Given the description of an element on the screen output the (x, y) to click on. 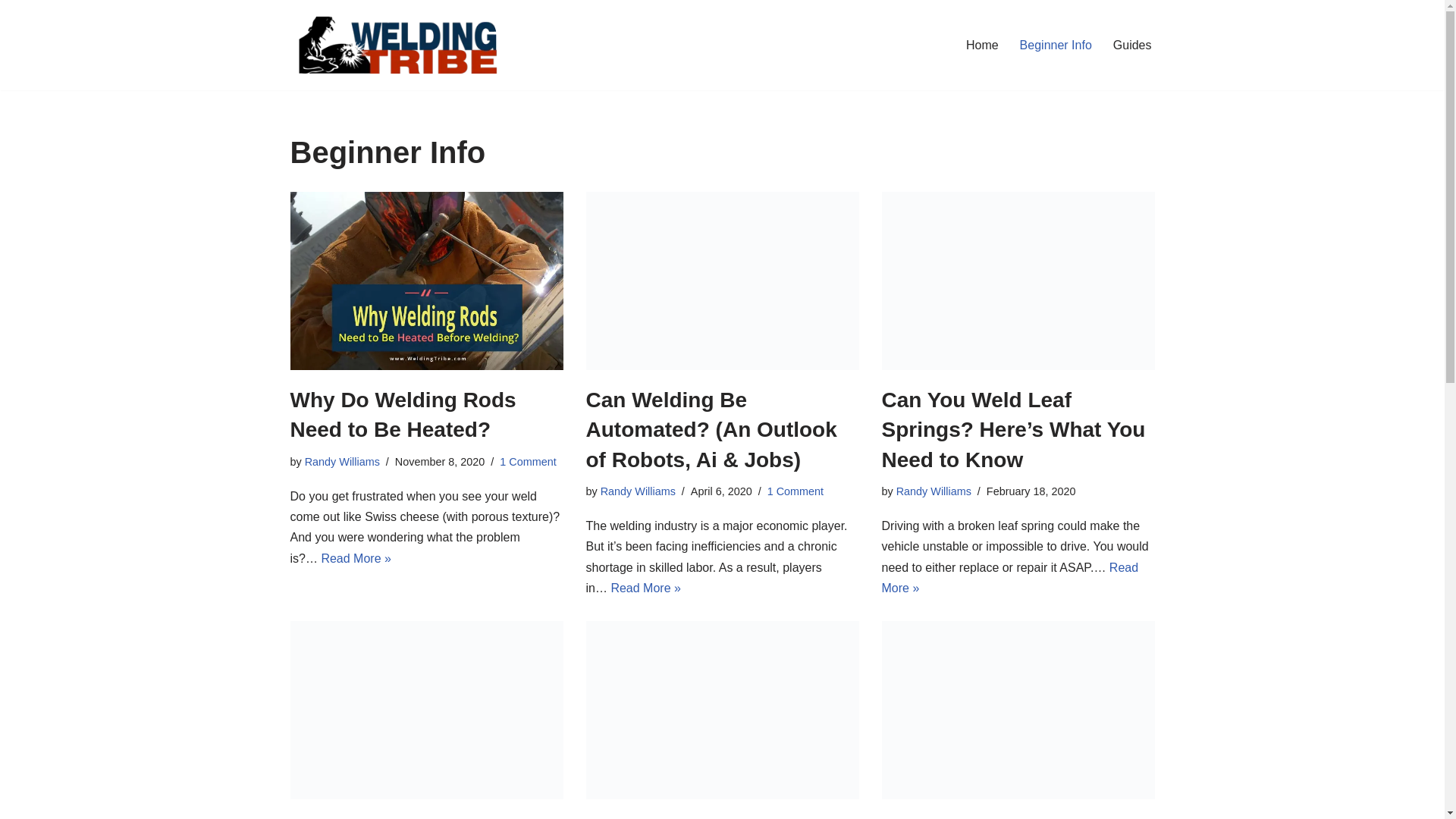
Why Do Welding Rods Need to Be Heated? (425, 280)
Can Welders Have Tattoos, Piercings, Rings or Beards? (425, 709)
Posts by Randy Williams (637, 491)
Randy Williams (933, 491)
Randy Williams (637, 491)
1 Comment (795, 491)
Beginner Info (1056, 45)
Randy Williams (342, 461)
Skip to content (11, 31)
Guides (1132, 45)
